Given the description of an element on the screen output the (x, y) to click on. 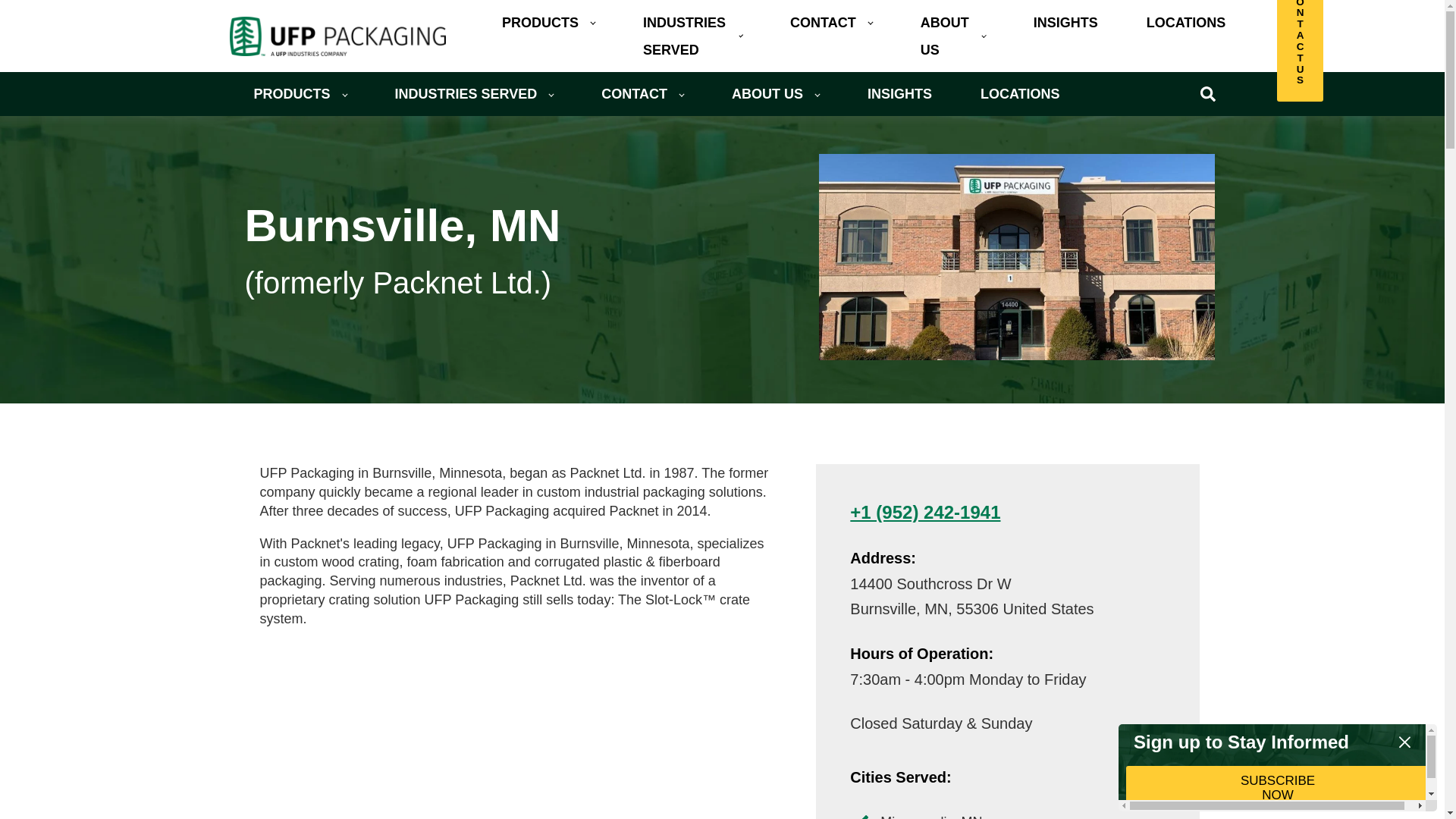
LOCATIONS (1186, 22)
INSIGHTS (1065, 22)
INDUSTRIES SERVED (692, 36)
Popup CTA (1277, 767)
PRODUCTS (548, 22)
ABOUT US (952, 36)
CONTACT US (1299, 51)
UFP Packaging facility located in Burnsville, MN (1016, 256)
CONTACT (831, 22)
PRODUCTS (299, 93)
